Given the description of an element on the screen output the (x, y) to click on. 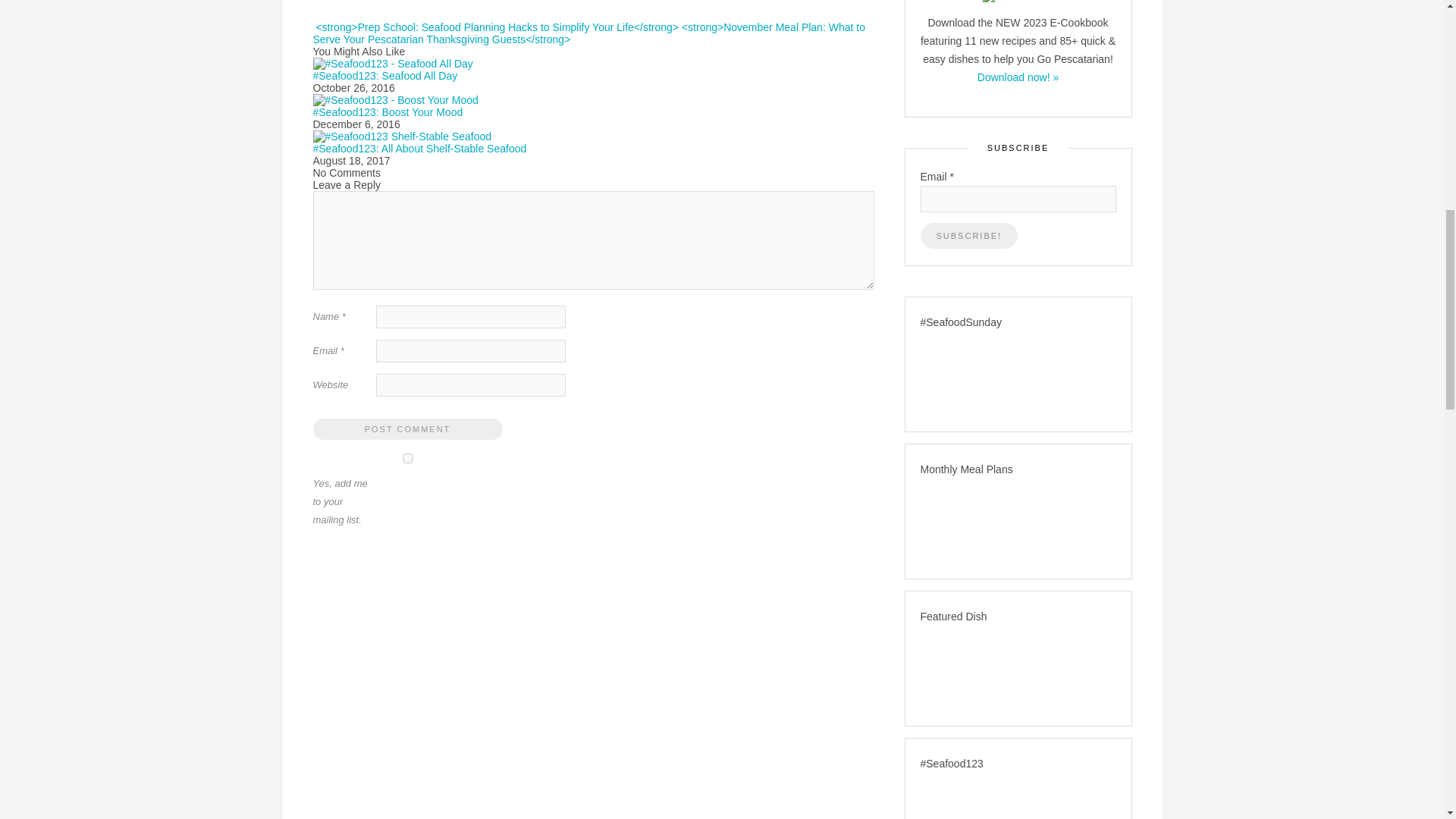
Subscribe! (968, 235)
Email (1018, 198)
1 (407, 458)
Post Comment (407, 428)
